Given the description of an element on the screen output the (x, y) to click on. 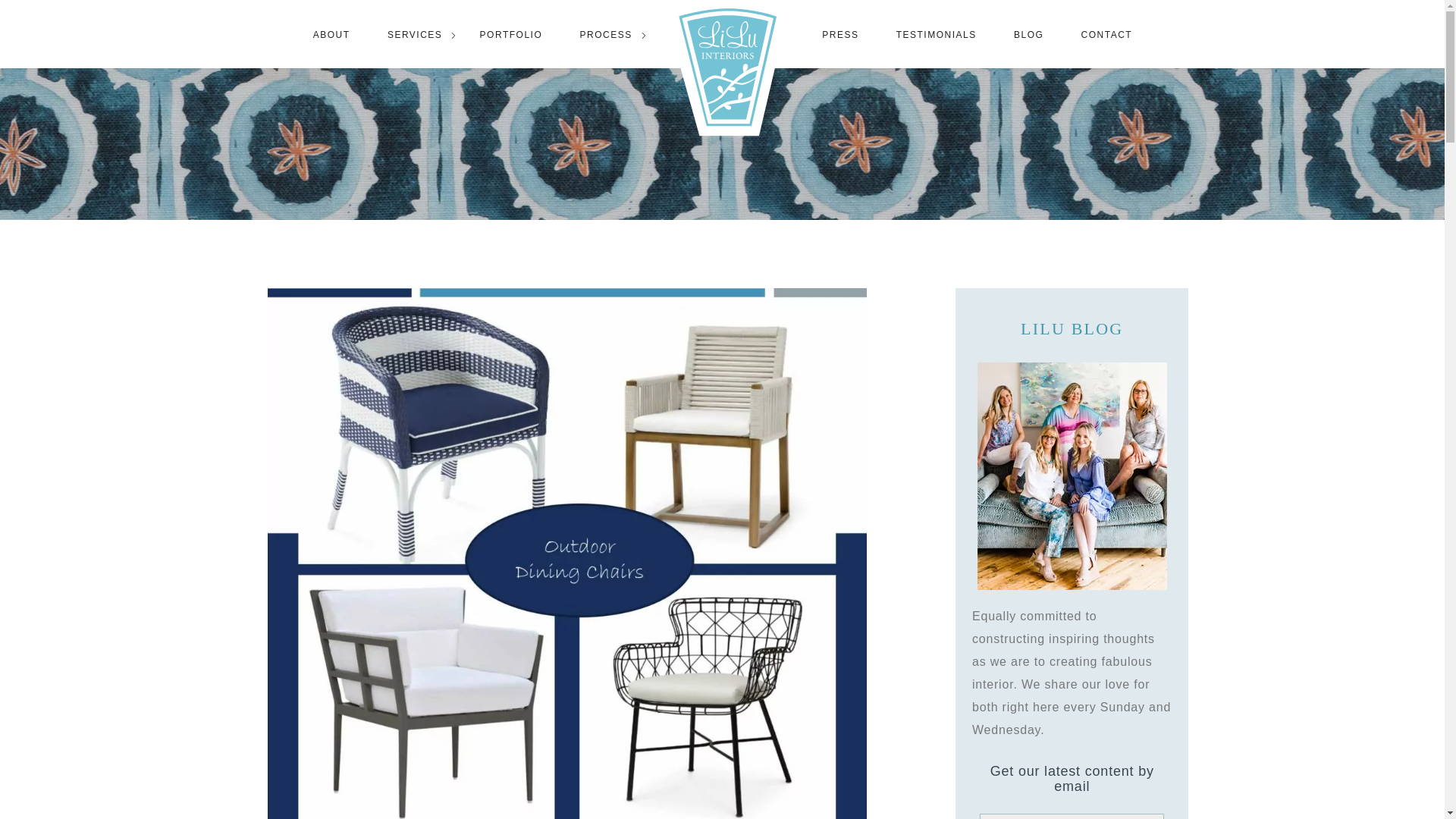
TESTIMONIALS (935, 33)
ABOUT (331, 33)
PROCESS (604, 33)
SERVICES (414, 33)
BLOG (1028, 33)
PORTFOLIO (511, 33)
CONTACT (1107, 33)
PRESS (840, 33)
